Given the description of an element on the screen output the (x, y) to click on. 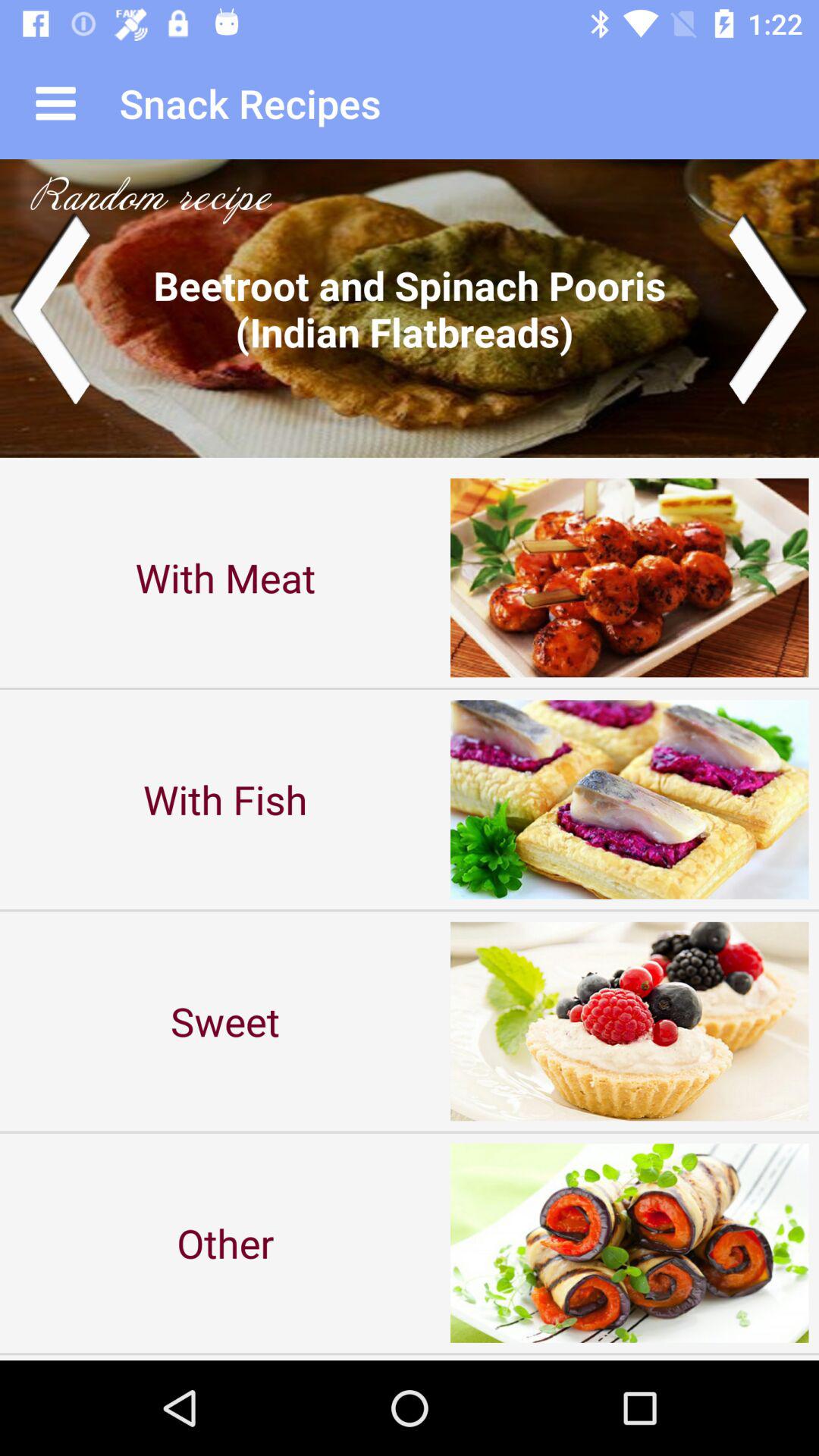
flip to other item (225, 1242)
